Given the description of an element on the screen output the (x, y) to click on. 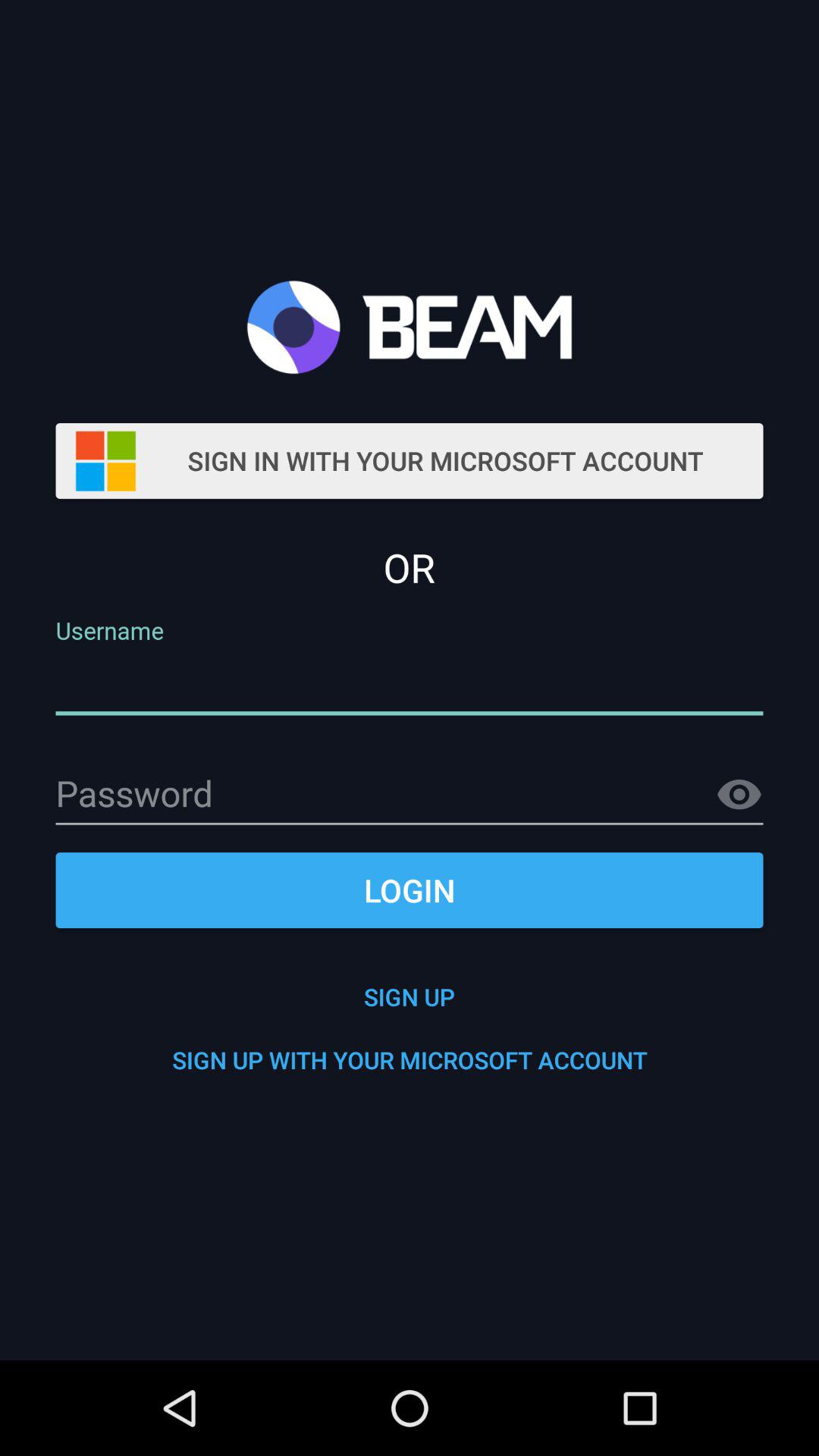
click login item (409, 890)
